Given the description of an element on the screen output the (x, y) to click on. 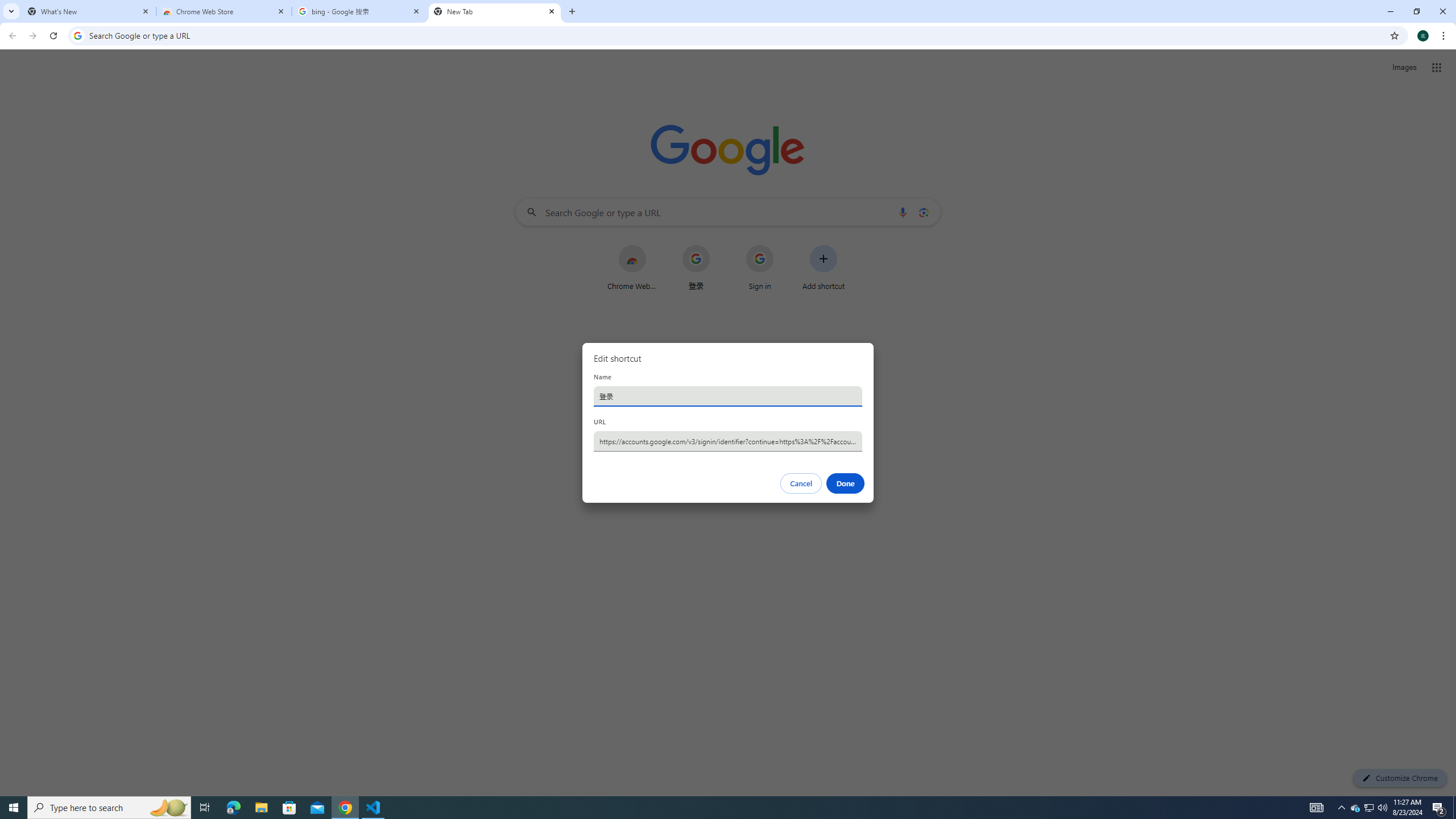
What's New (88, 11)
Name (727, 396)
Cancel (801, 483)
URL (727, 440)
